Given the description of an element on the screen output the (x, y) to click on. 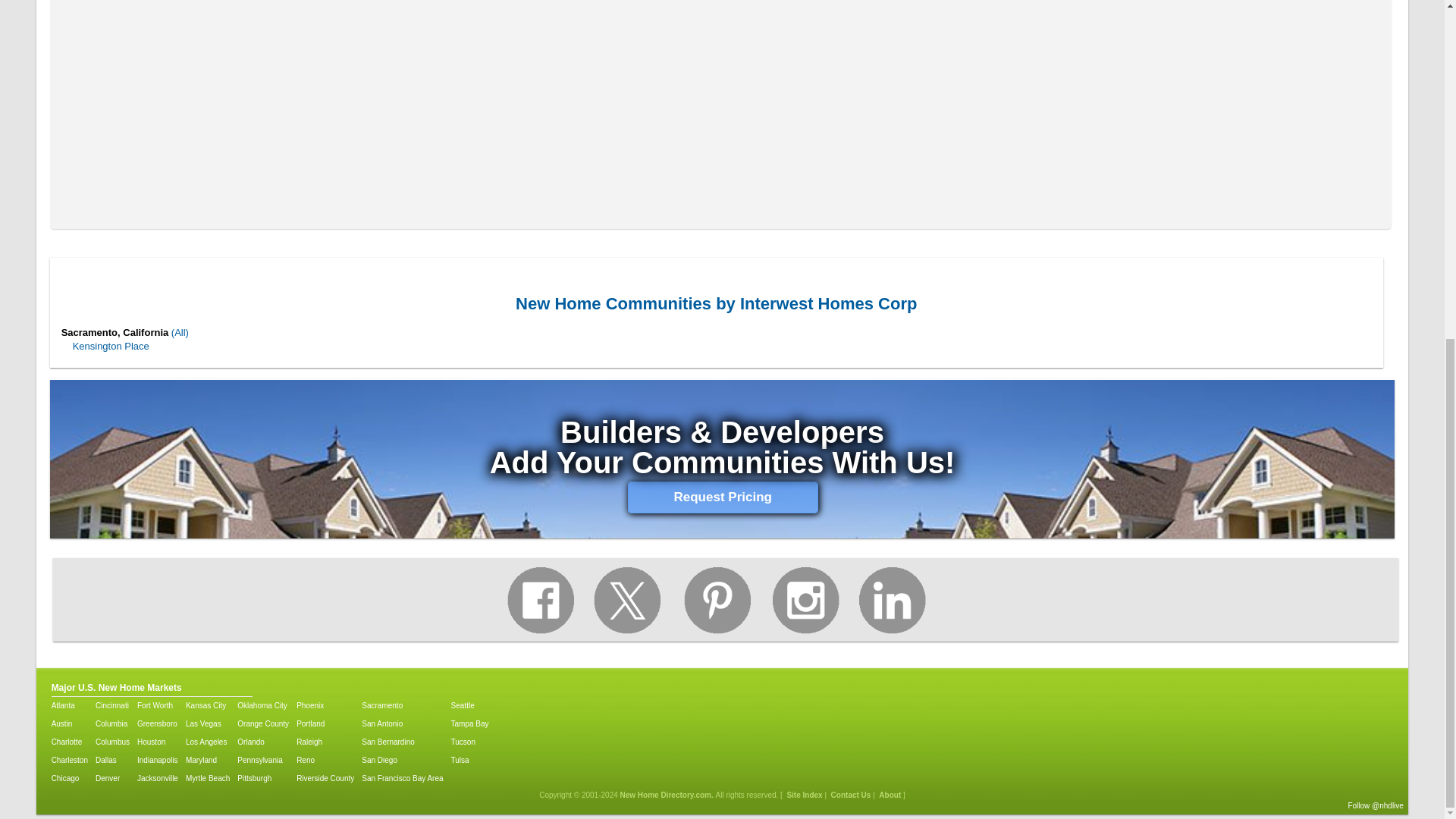
Jacksonville (156, 778)
New Homes Directory Instagram Page (803, 603)
Request Pricing (722, 497)
Chicago homes for sale (68, 778)
Link to all Interwest Homes Corp new homes in Sacramento (180, 332)
Cincinnati (112, 706)
Indianapolis (156, 760)
Charleston homes for sale (68, 760)
Greensboro homes for sale (156, 724)
Columbus homes for sale (112, 724)
Charleston (68, 760)
Austin homes for sale (68, 724)
Columbus (112, 742)
New Homes Directory Twitter Page (627, 603)
Fort Worth (156, 706)
